Given the description of an element on the screen output the (x, y) to click on. 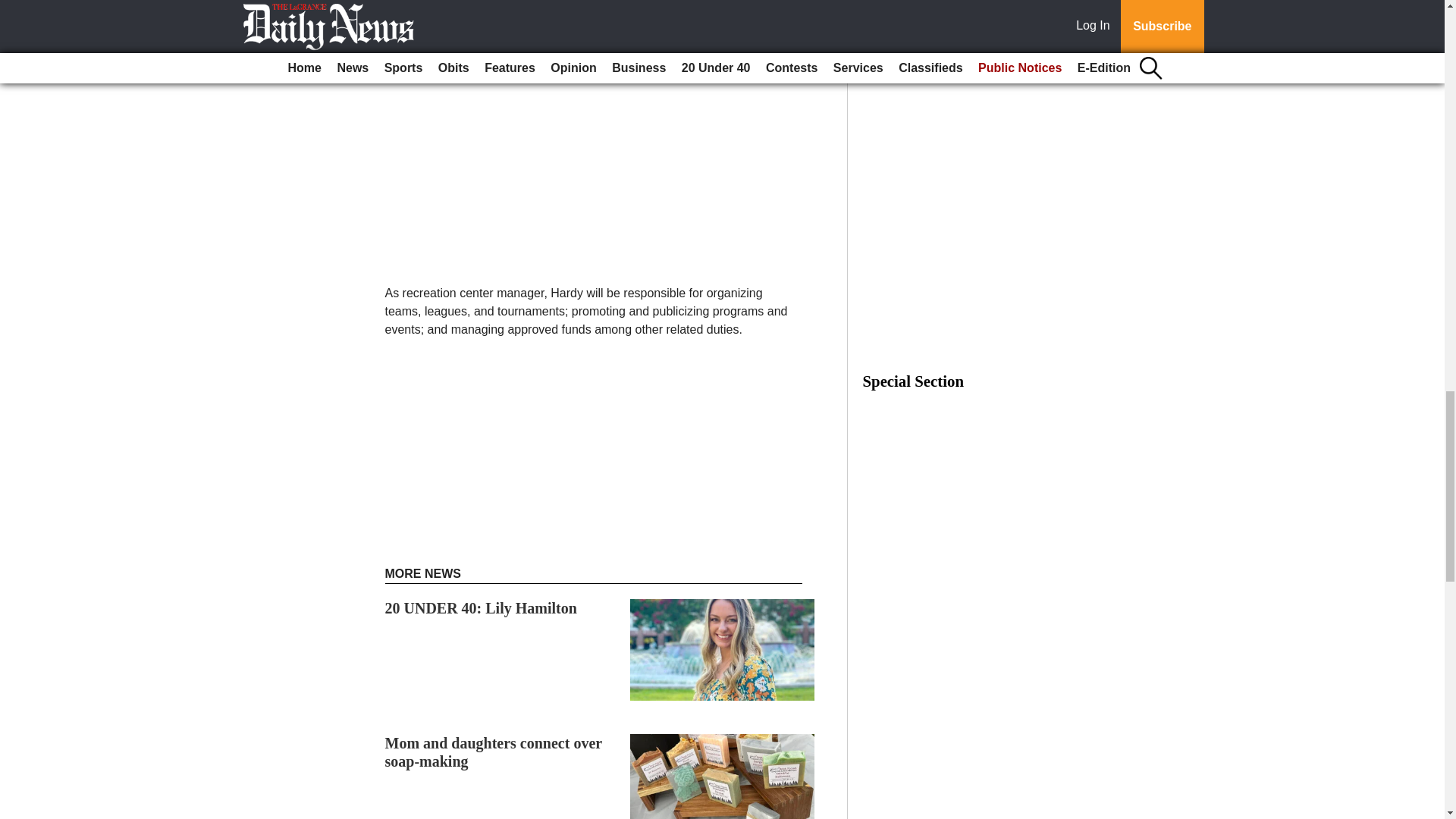
20 UNDER 40: Lily Hamilton (480, 607)
20 UNDER 40: Lily Hamilton (480, 607)
Mom and daughters connect over soap-making (493, 751)
Mom and daughters connect over soap-making (493, 751)
